Given the description of an element on the screen output the (x, y) to click on. 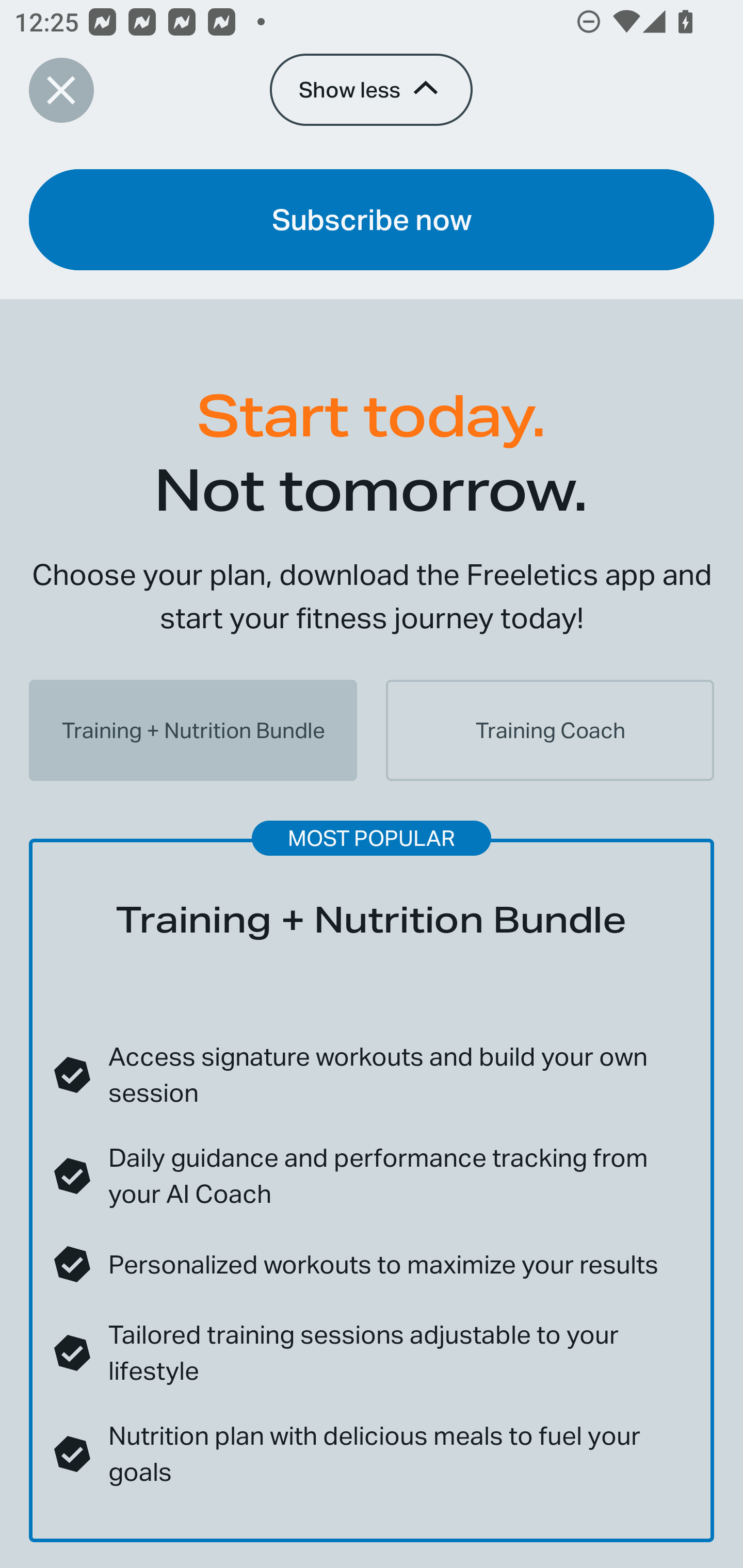
Close (60, 90)
Show less (370, 89)
Subscribe now (371, 219)
Training + Nutrition Bundle (192, 730)
Training Coach (549, 730)
